Given the description of an element on the screen output the (x, y) to click on. 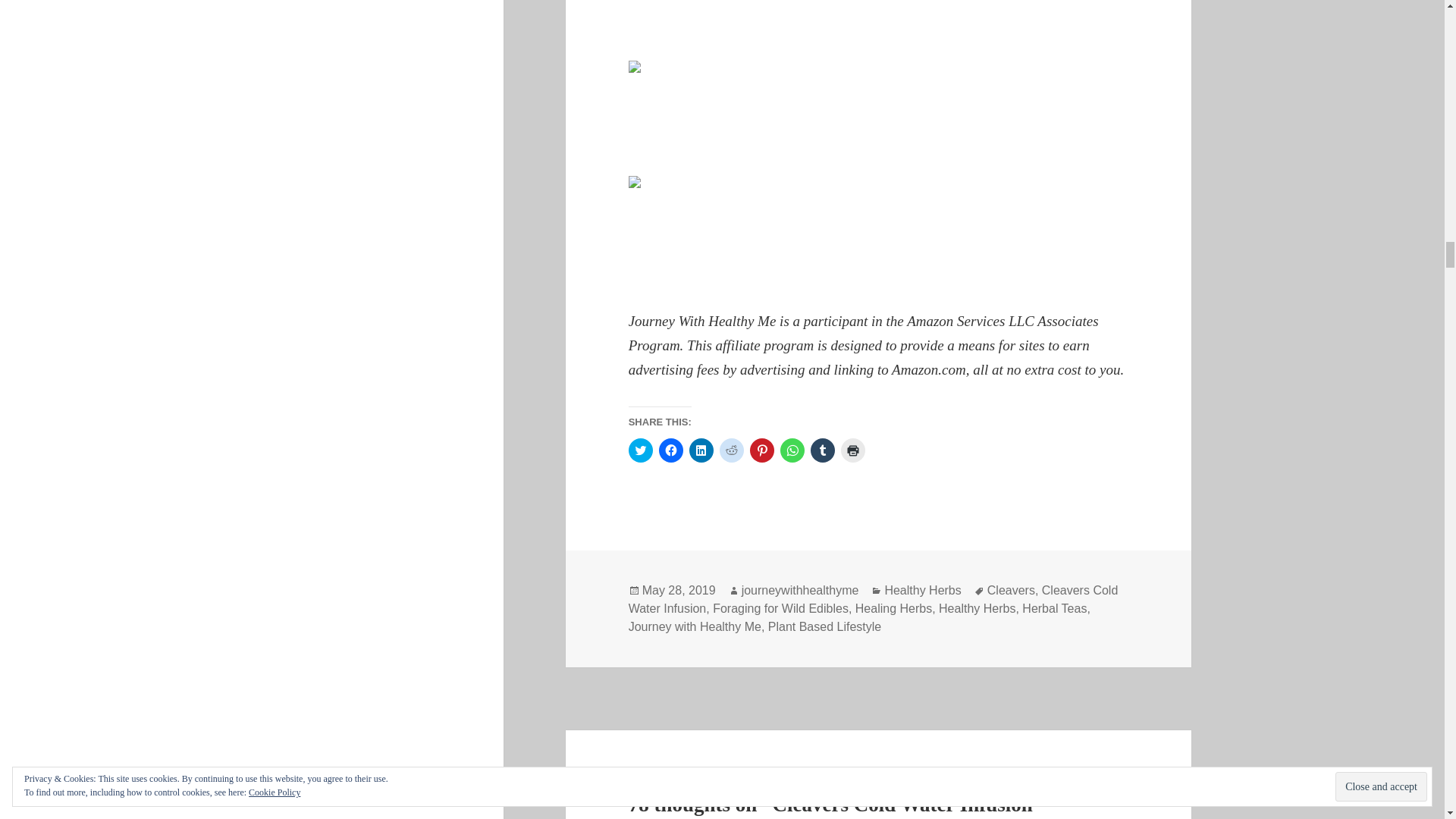
Click to share on WhatsApp (792, 450)
Click to share on Pinterest (761, 450)
Click to share on Facebook (670, 450)
Click to share on Twitter (640, 450)
Click to share on Tumblr (822, 450)
Click to print (852, 450)
Click to share on Reddit (731, 450)
Click to share on LinkedIn (700, 450)
